Given the description of an element on the screen output the (x, y) to click on. 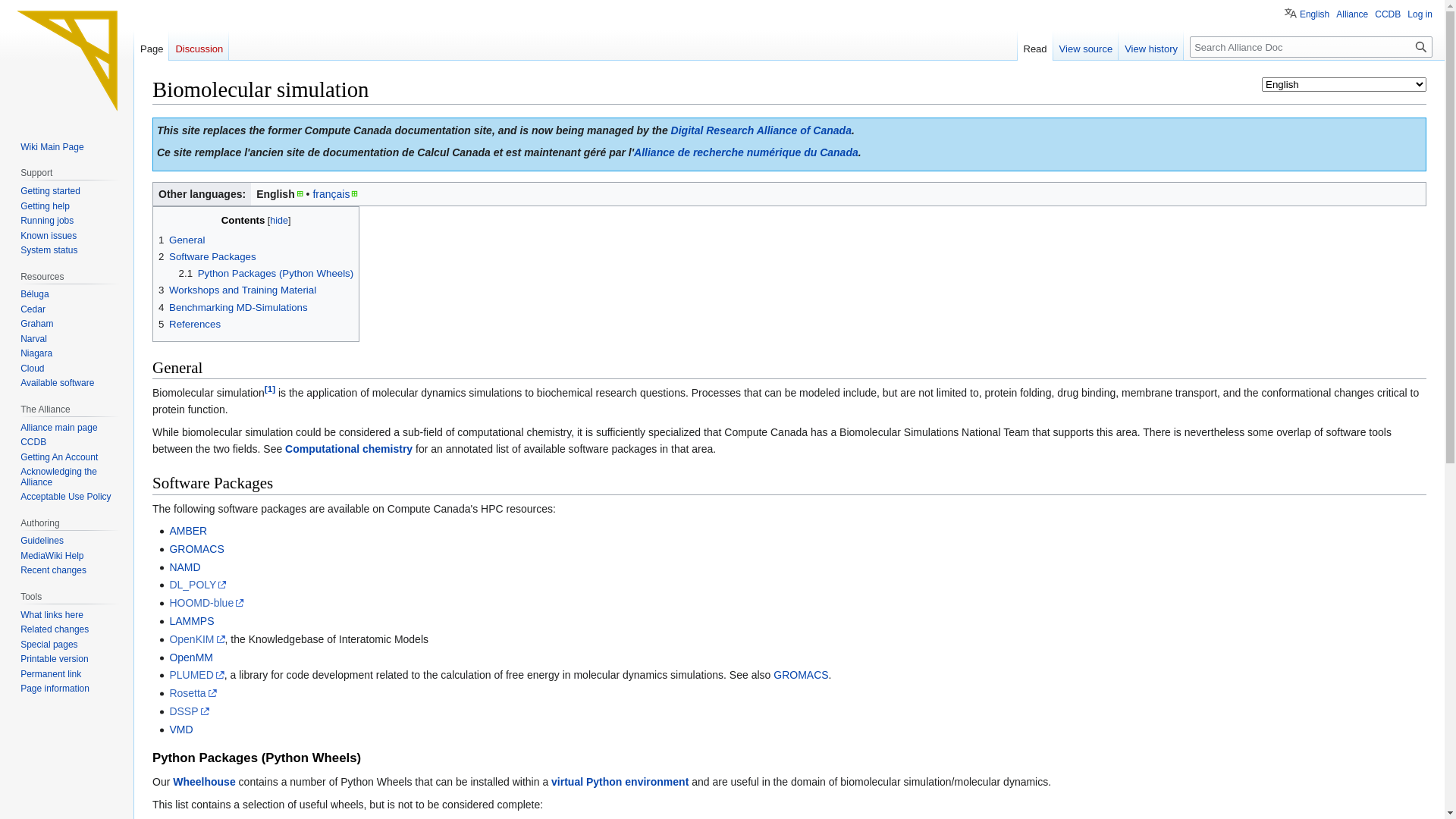
Cloud Element type: text (31, 368)
Search the pages for this text Element type: hover (1420, 46)
HOOMD-blue Element type: text (206, 602)
View source Element type: text (1086, 45)
OpenKIM Element type: text (196, 639)
OpenMM Element type: text (191, 657)
Search Element type: text (1420, 46)
LAMMPS Element type: text (191, 621)
[1] Element type: text (269, 388)
4 Benchmarking MD-Simulations Element type: text (232, 307)
CCDB Element type: text (1387, 14)
Special pages Element type: text (48, 644)
What links here Element type: text (51, 614)
Alliance Element type: text (1352, 14)
Getting help Element type: text (44, 205)
Wiki Main Page Element type: text (51, 146)
Acknowledging the Alliance Element type: text (58, 476)
Recent changes Element type: text (53, 569)
System status Element type: text (48, 249)
Graham Element type: text (36, 323)
Wheelhouse Element type: text (203, 781)
Printable version Element type: text (53, 658)
2 Software Packages Element type: text (207, 256)
set Element type: text (12, 7)
Permanent link Element type: text (50, 673)
Discussion Element type: text (199, 45)
Jump to navigation Element type: text (151, 116)
View history Element type: text (1150, 45)
Log in Element type: text (1419, 14)
5 References Element type: text (189, 323)
Page Element type: text (151, 45)
CCDB Element type: text (33, 441)
MediaWiki Help Element type: text (51, 555)
Guidelines Element type: text (41, 540)
virtual Python environment Element type: text (619, 781)
NAMD Element type: text (184, 567)
Acceptable Use Policy Element type: text (65, 496)
Running jobs Element type: text (46, 220)
DSSP Element type: text (188, 711)
Niagara Element type: text (36, 353)
AMBER Element type: text (188, 530)
Visit the main page Element type: hover (66, 60)
3 Workshops and Training Material Element type: text (237, 289)
Narval Element type: text (33, 338)
VMD Element type: text (180, 729)
Read Element type: text (1035, 45)
GROMACS Element type: text (196, 548)
Search Alliance Doc [alt-shift-f] Element type: hover (1310, 46)
Digital Research Alliance of Canada Element type: text (761, 130)
Computational chemistry Element type: text (348, 448)
Related changes Element type: text (54, 629)
DL_POLY Element type: text (197, 584)
Page information Element type: text (54, 688)
Known issues Element type: text (48, 235)
GROMACS Element type: text (800, 674)
Cedar Element type: text (32, 309)
1 General Element type: text (181, 239)
Alliance main page Element type: text (58, 427)
Getting An Account Element type: text (58, 456)
English Element type: text (1306, 11)
2.1 Python Packages (Python Wheels) Element type: text (266, 273)
PLUMED Element type: text (196, 674)
Getting started Element type: text (50, 190)
Rosetta Element type: text (192, 693)
Available software Element type: text (57, 382)
